Given the description of an element on the screen output the (x, y) to click on. 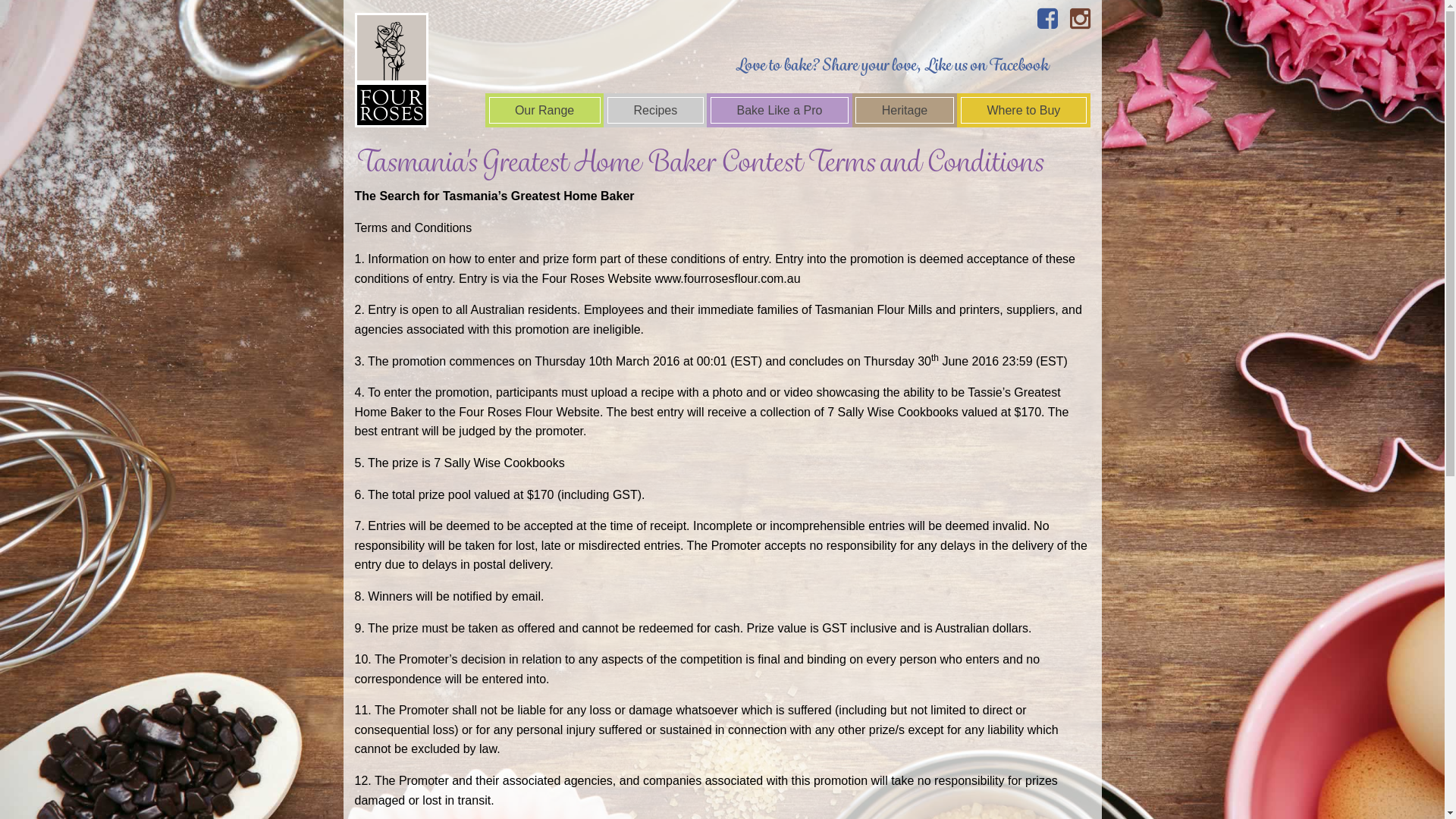
Four Roses Flour - Home Page Element type: hover (391, 63)
Where to Buy Element type: text (1023, 110)
Our Range Element type: text (544, 110)
Heritage Element type: text (904, 110)
Bake Like a Pro Element type: text (778, 110)
View our Instagram Profile Element type: hover (1079, 18)
Find us on Facebook Element type: hover (1047, 18)
Recipes Element type: text (654, 110)
